Given the description of an element on the screen output the (x, y) to click on. 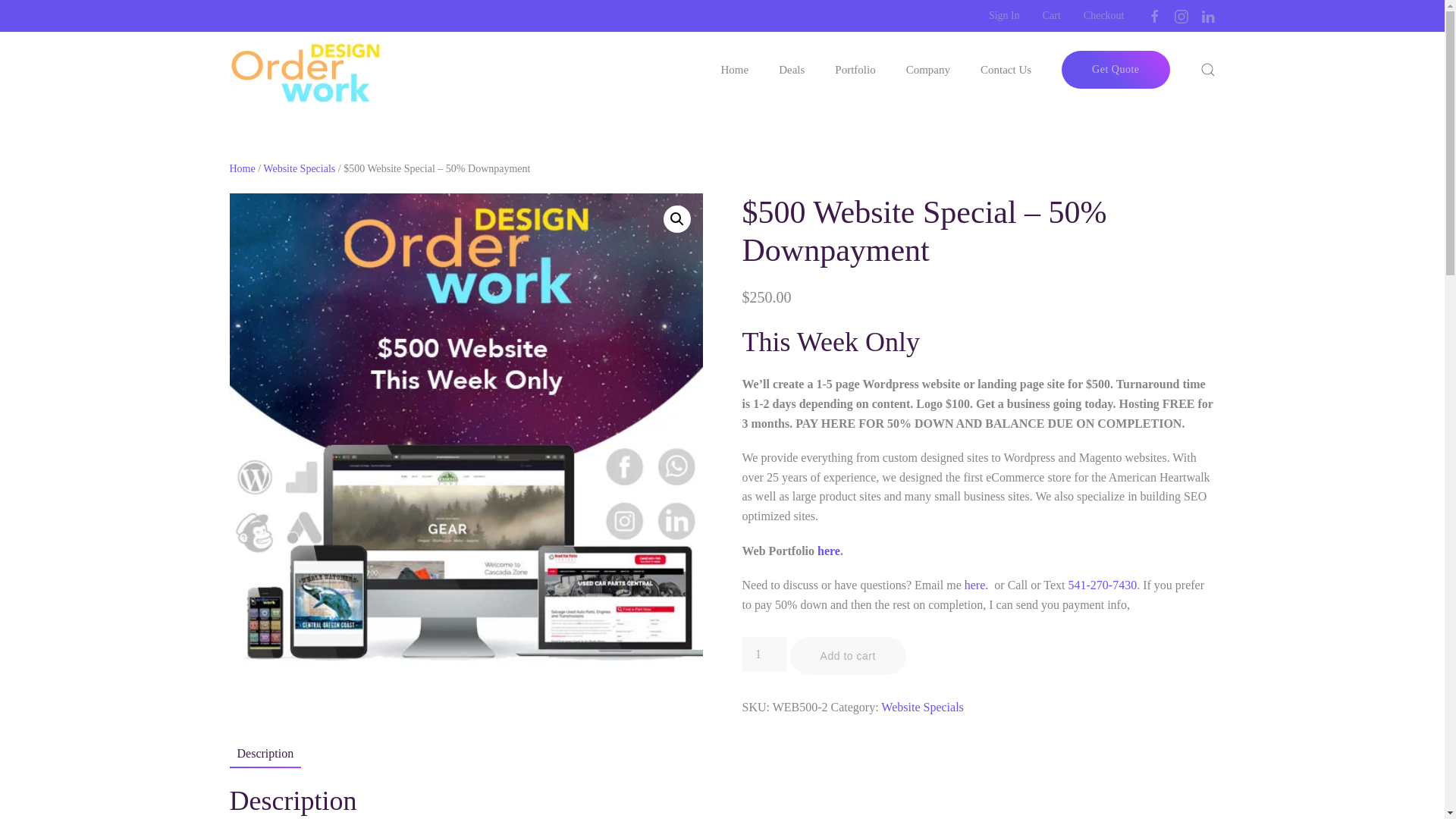
1 (763, 654)
Contact Us (1005, 69)
Company (928, 69)
Sign In (1004, 15)
Checkout (1103, 15)
Portfolio (854, 69)
Cart (1051, 15)
